Given the description of an element on the screen output the (x, y) to click on. 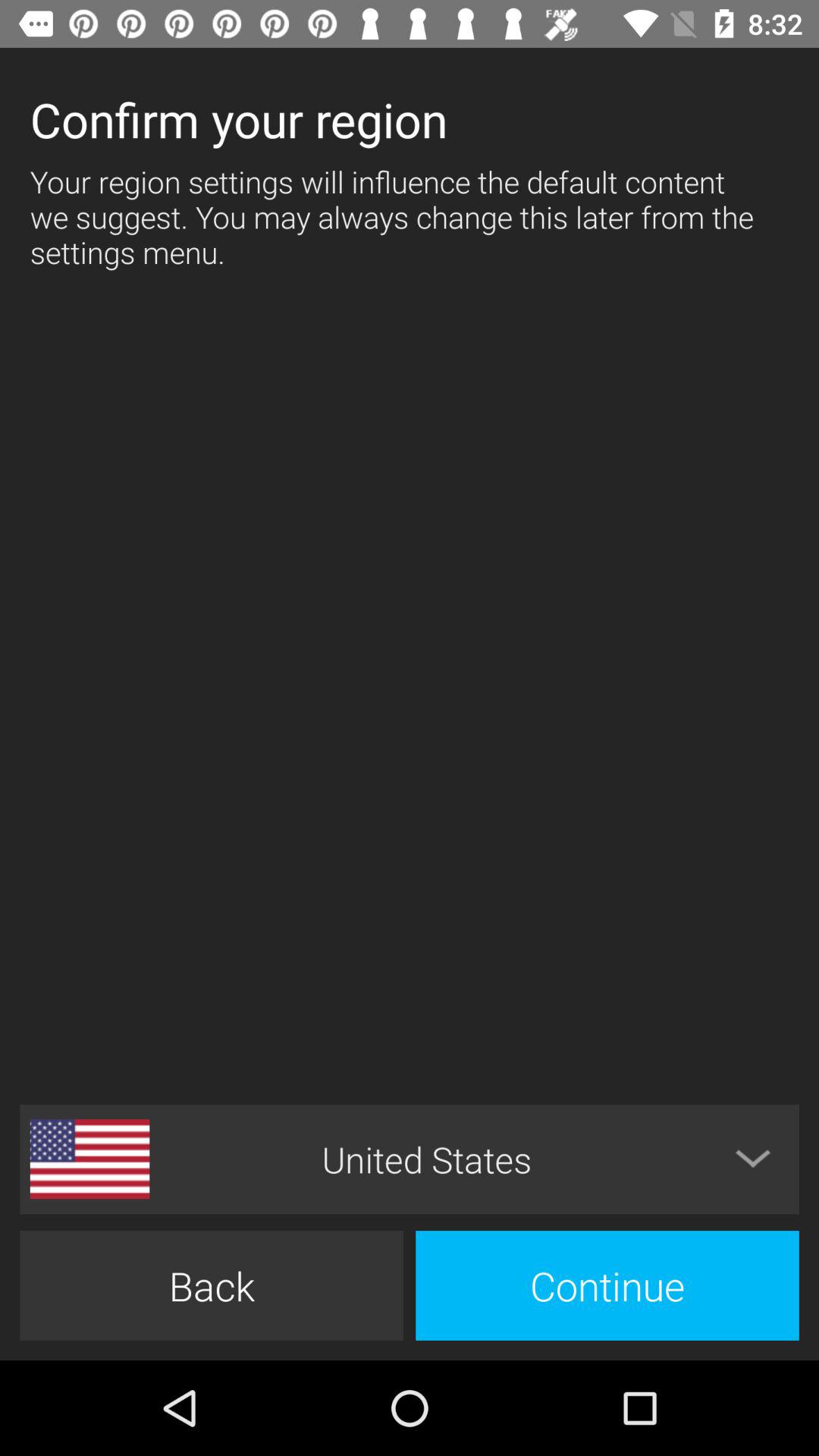
flip to the back item (211, 1285)
